Given the description of an element on the screen output the (x, y) to click on. 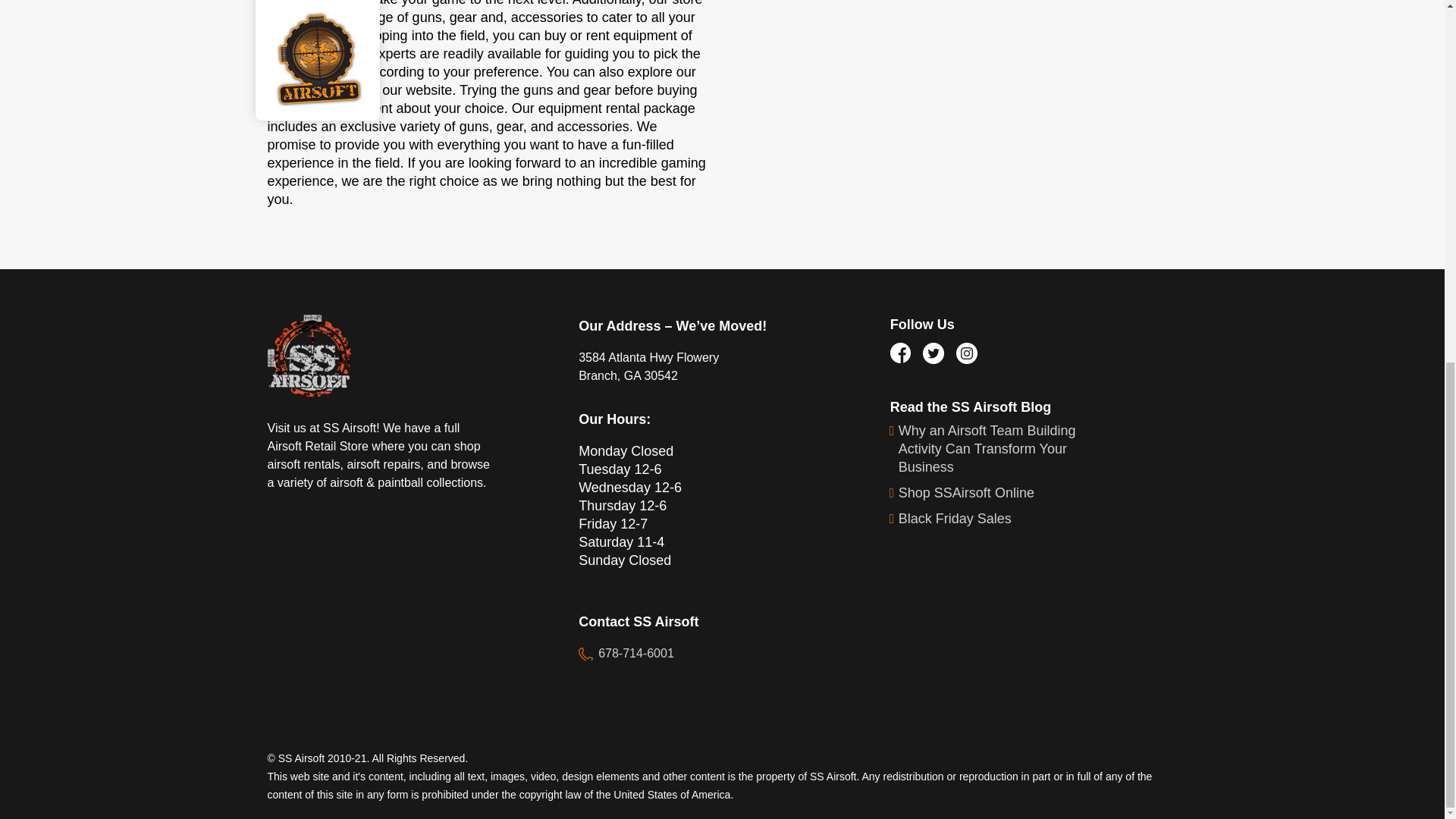
Black Friday Sales (1006, 518)
Airsoft Fields Georgia (465, 3)
678-714-6001 (626, 653)
Shop SSAirsoft Online (1006, 493)
